Given the description of an element on the screen output the (x, y) to click on. 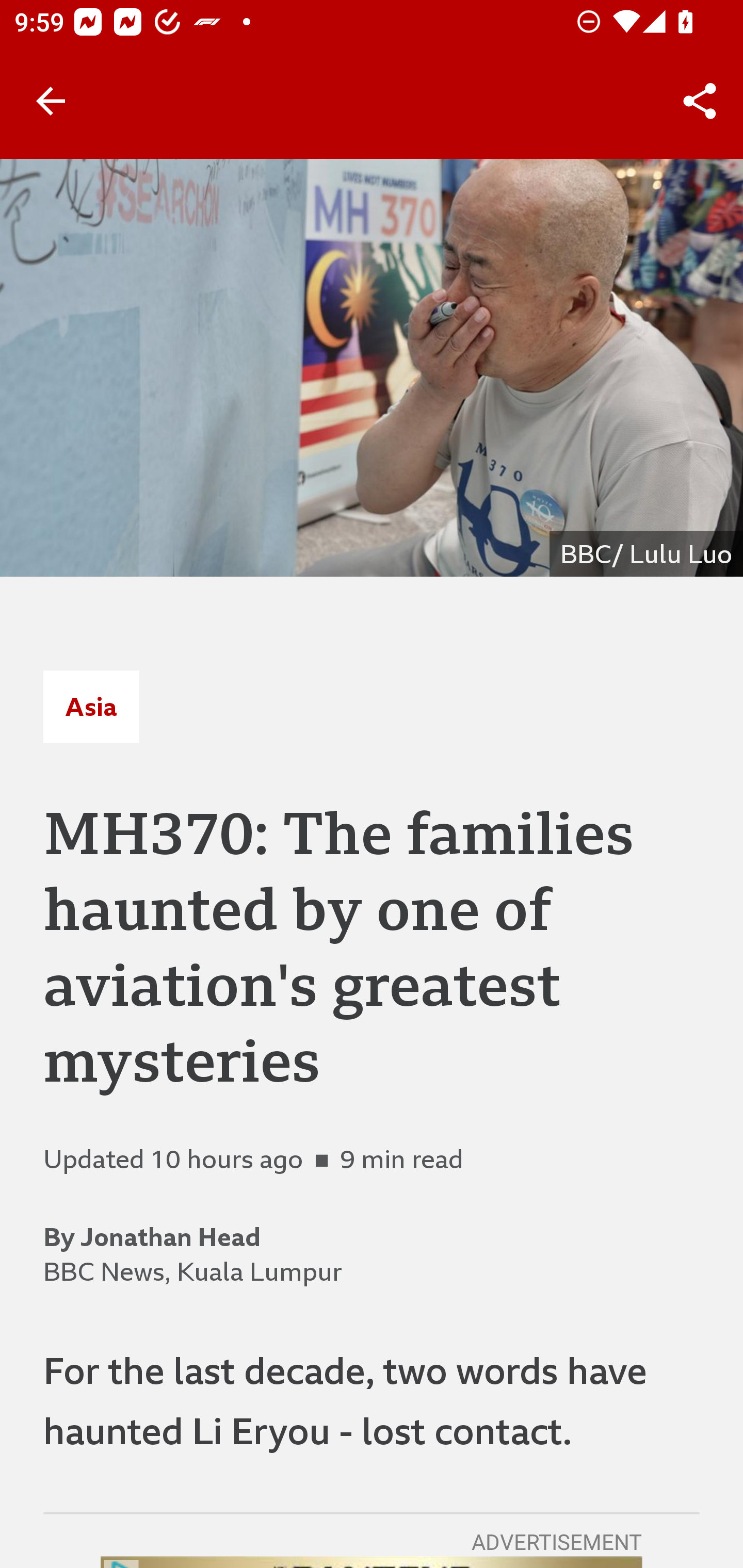
Back (50, 101)
Share (699, 101)
Asia (91, 706)
